Given the description of an element on the screen output the (x, y) to click on. 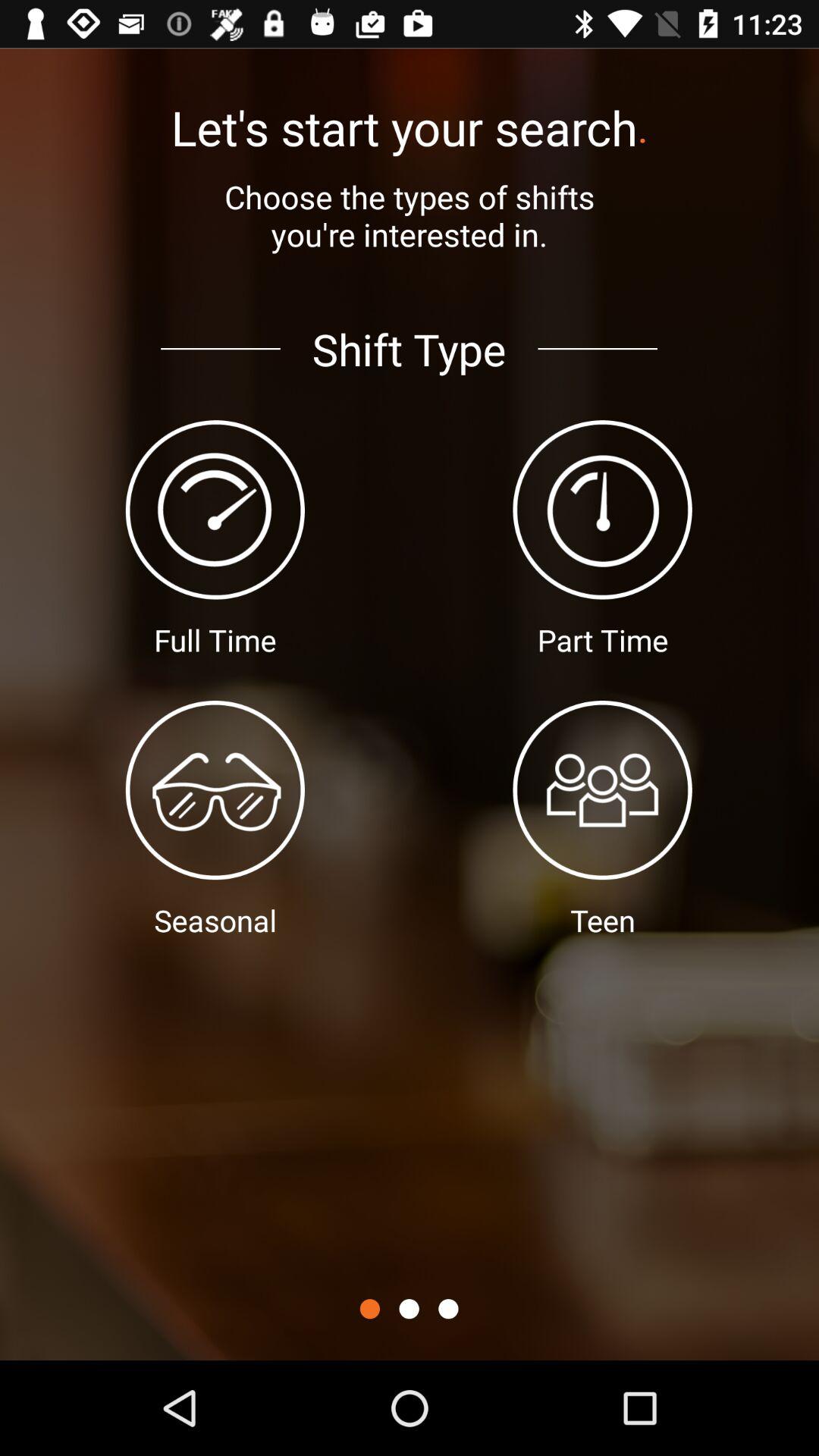
launch icon below shift type (369, 1308)
